Given the description of an element on the screen output the (x, y) to click on. 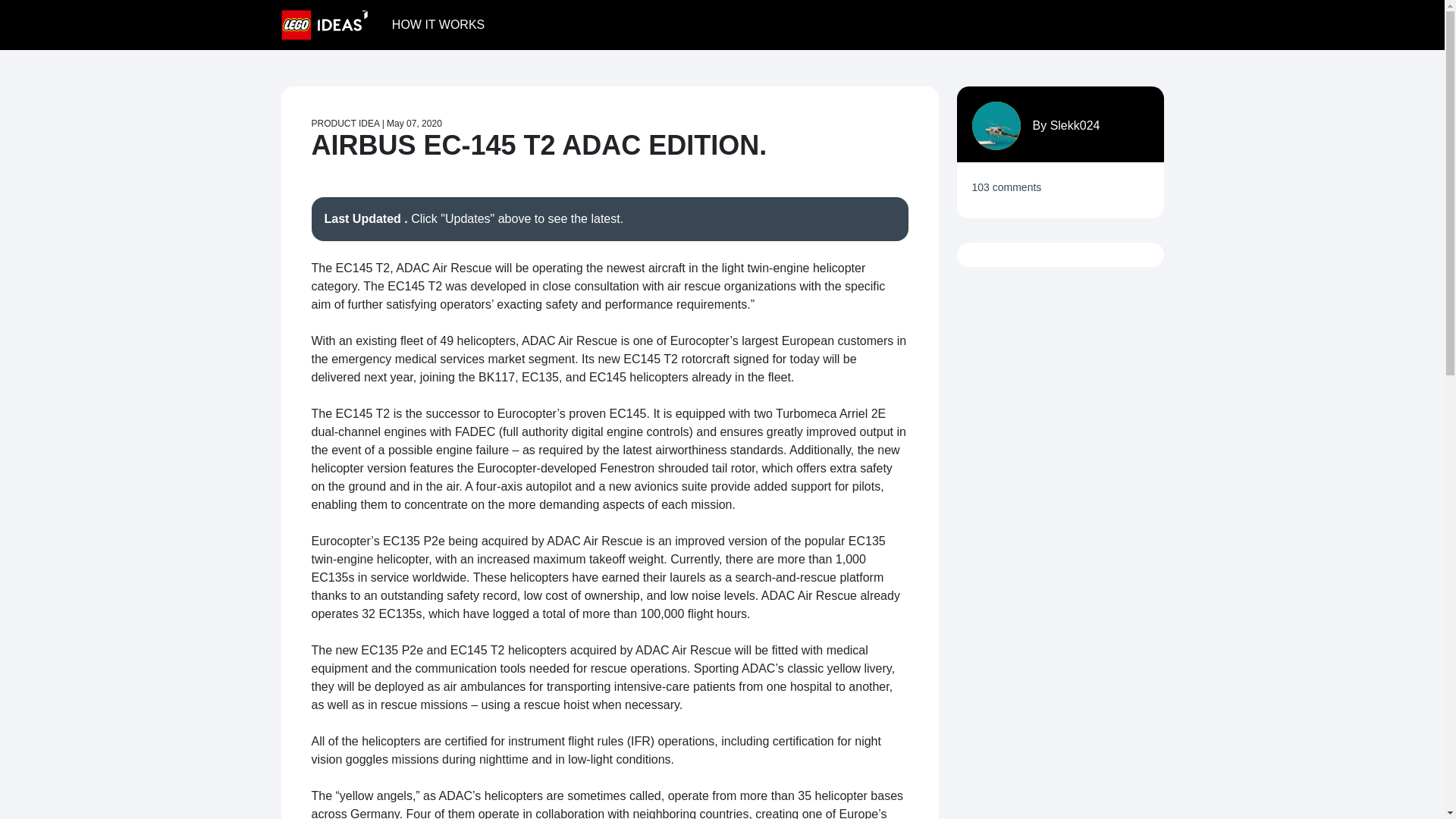
2020-05-07T07:17:37.319023Z (414, 122)
How It Works (438, 24)
HOW IT WORKS (438, 24)
Last Updated . Click "Updates" above to see the latest. (609, 218)
Slekk024 (1074, 124)
